Given the description of an element on the screen output the (x, y) to click on. 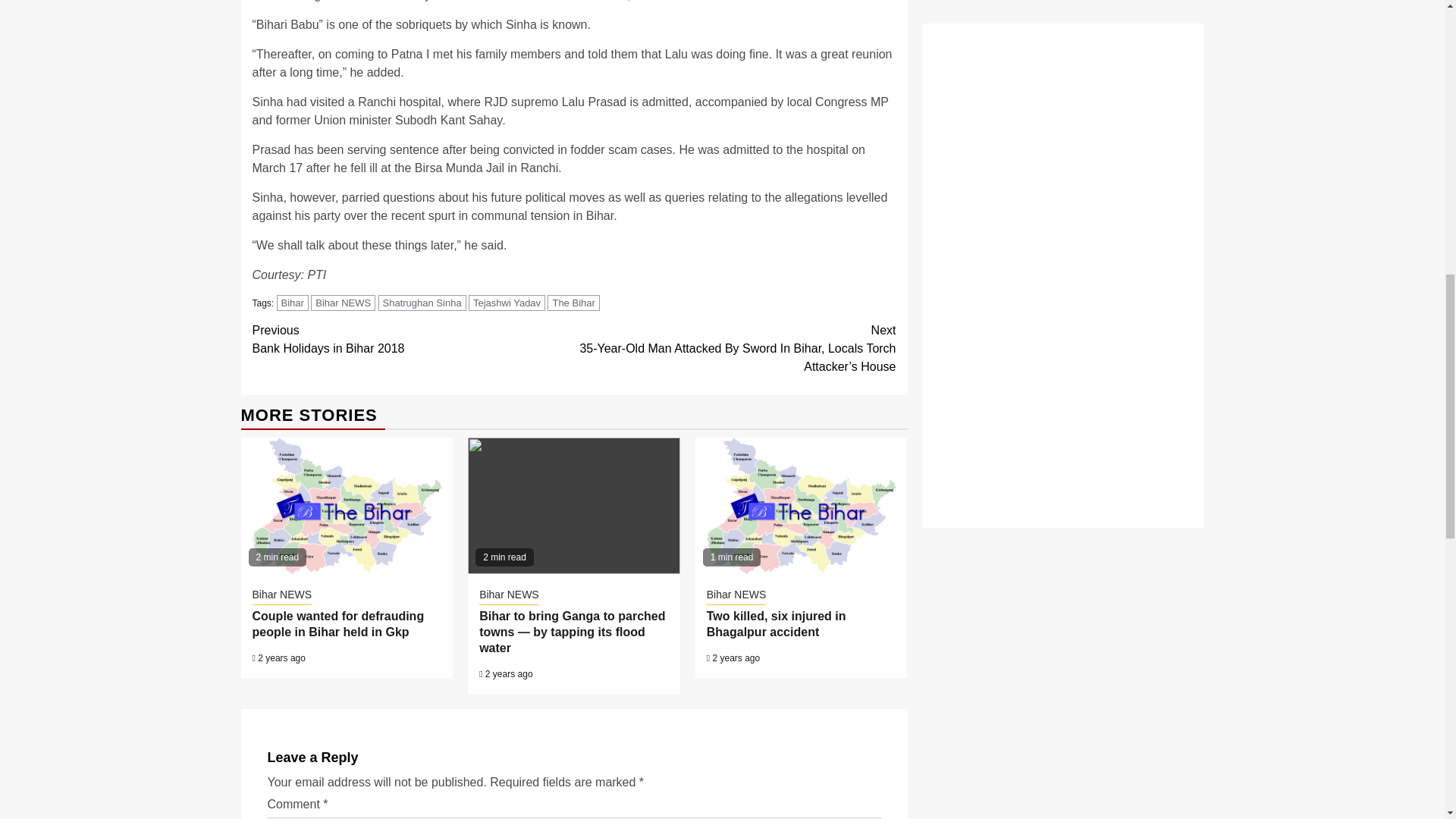
Bihar (292, 302)
Shatrughan Sinha (421, 302)
Tejashwi Yadav (412, 339)
Bihar NEWS (506, 302)
The Bihar (343, 302)
